Given the description of an element on the screen output the (x, y) to click on. 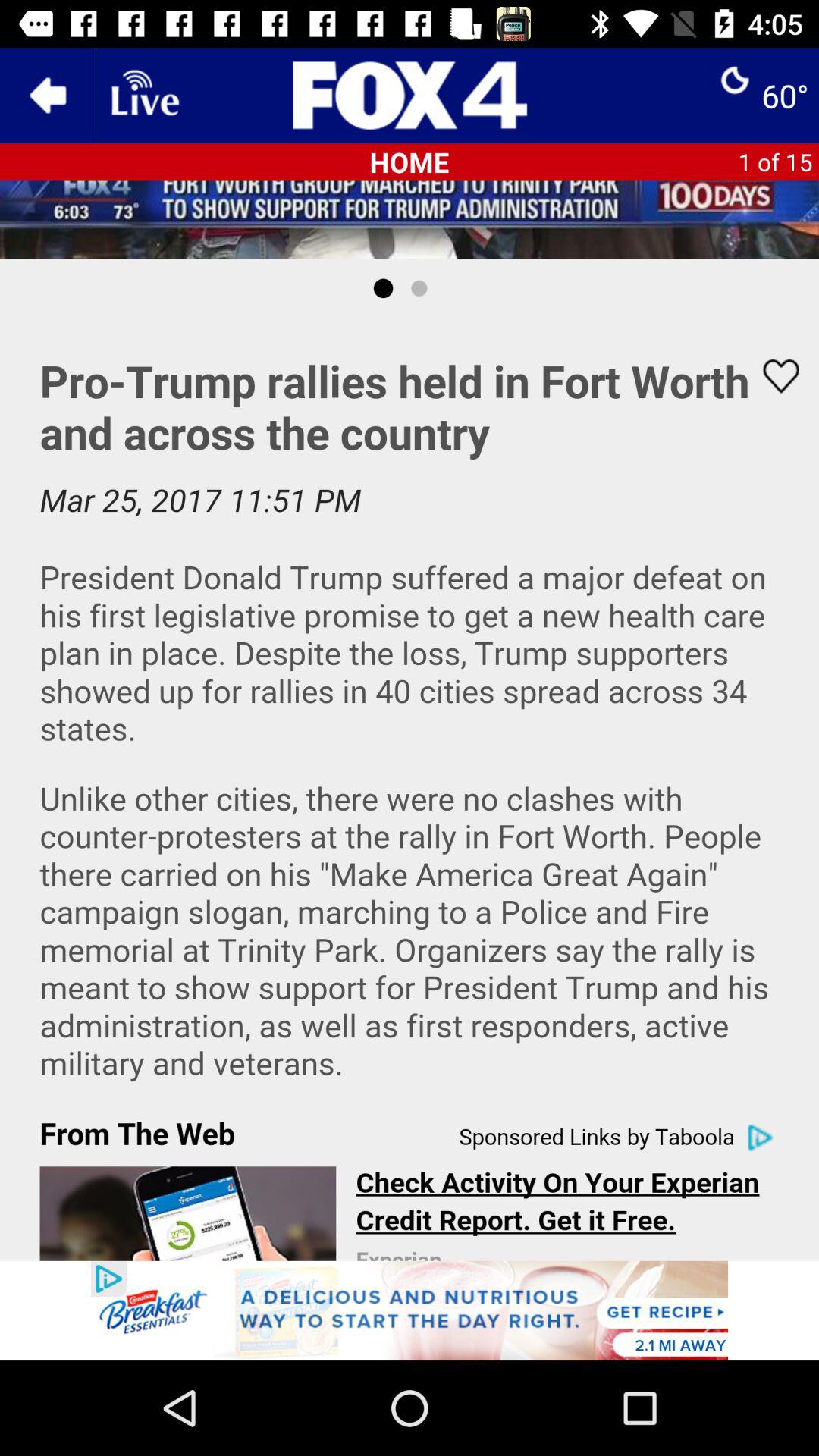
opens up advertisement (409, 1310)
